Given the description of an element on the screen output the (x, y) to click on. 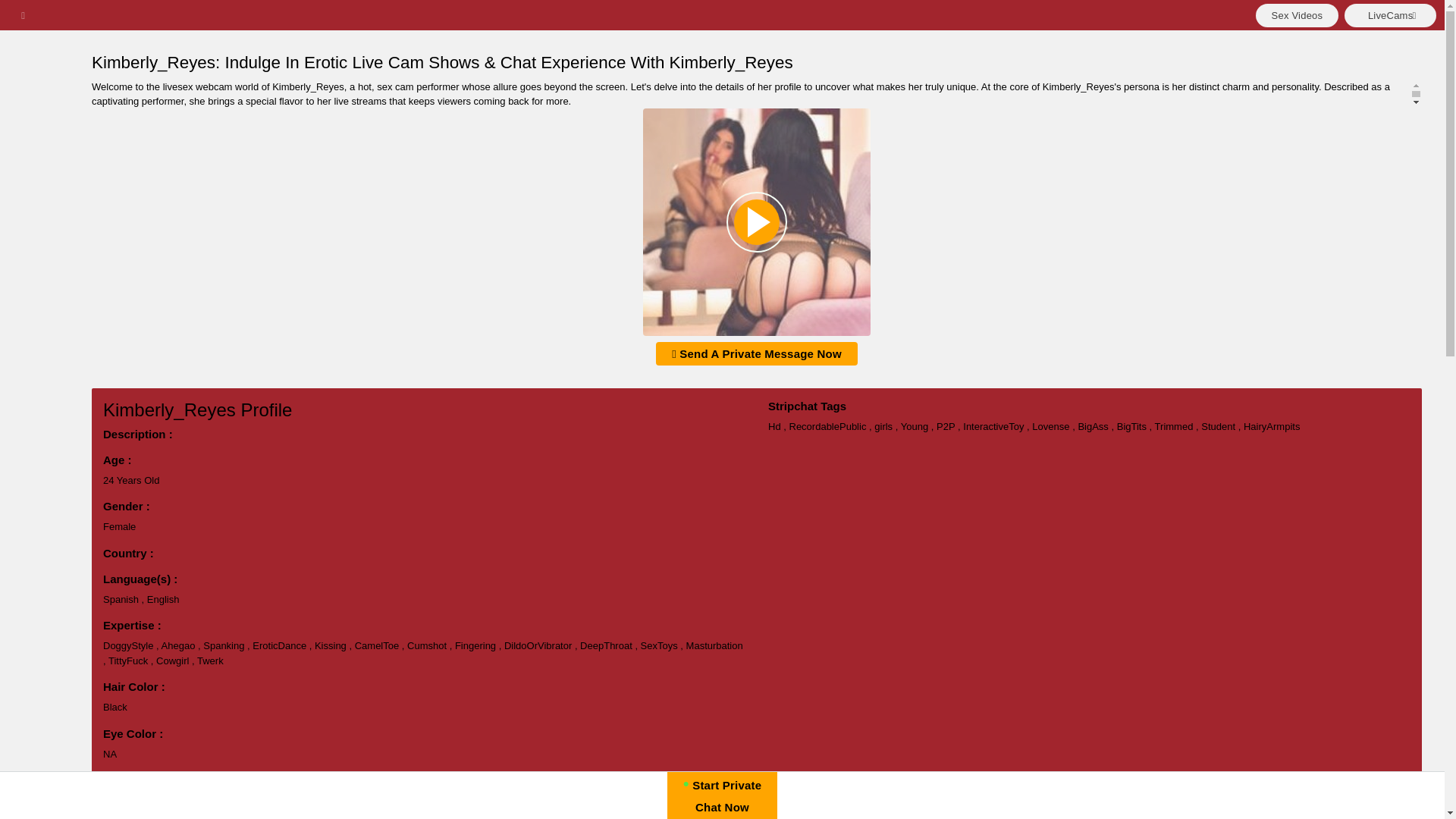
Sex Videos (1297, 14)
LiveCams (1389, 14)
